Given the description of an element on the screen output the (x, y) to click on. 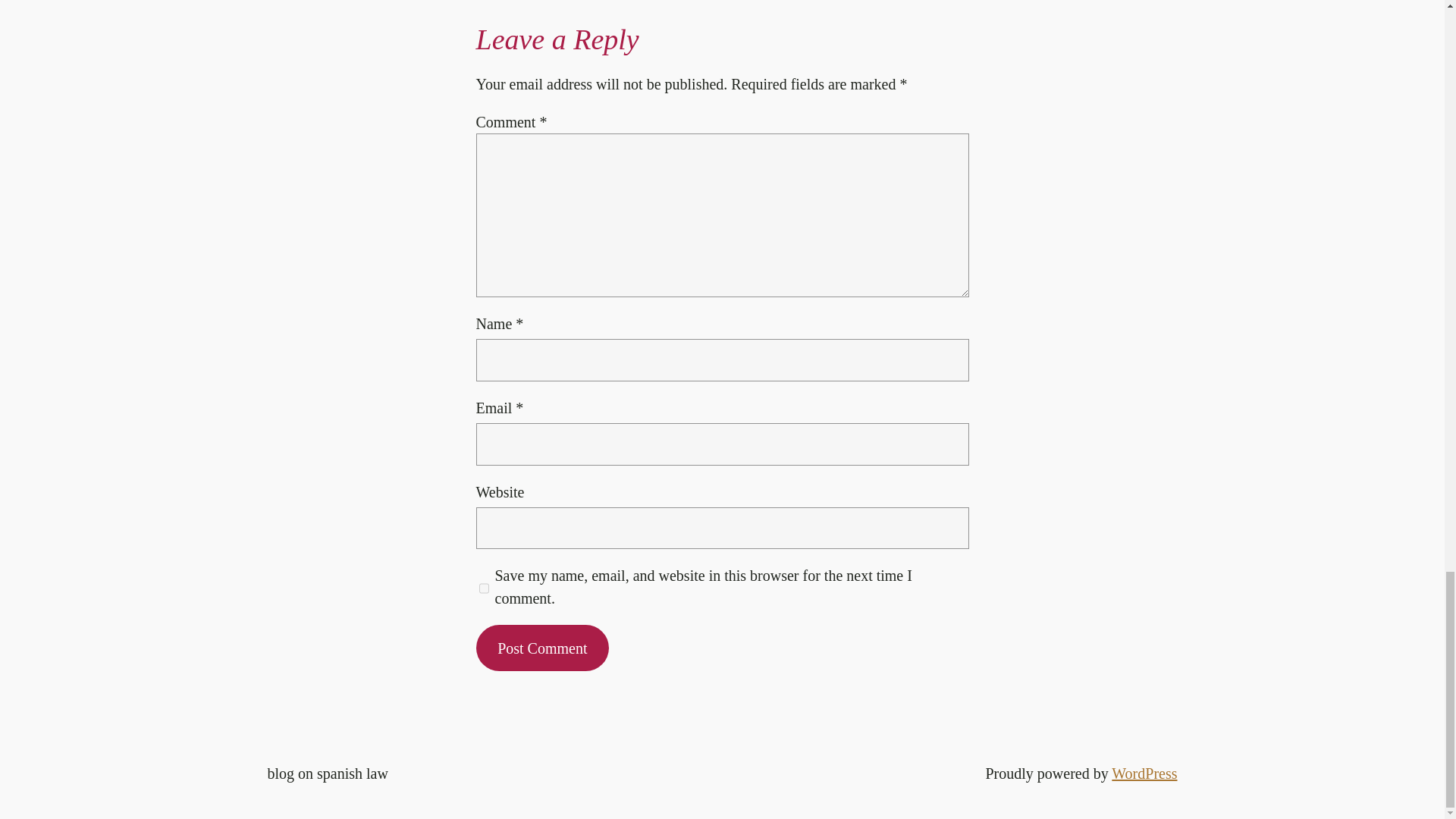
Post Comment (543, 647)
WordPress (1144, 773)
Post Comment (543, 647)
blog on spanish law (326, 773)
